Given the description of an element on the screen output the (x, y) to click on. 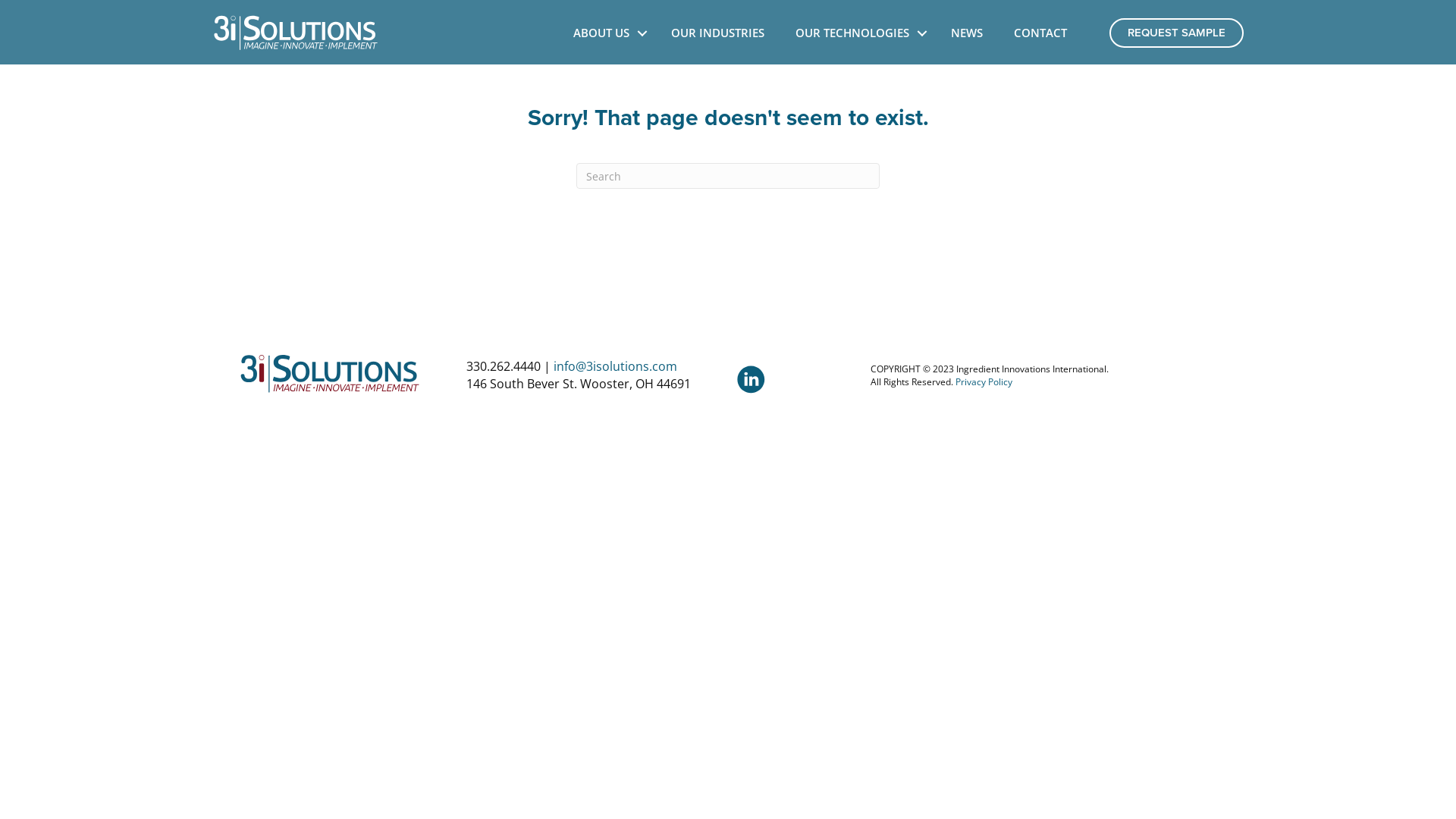
ABOUT US Element type: text (606, 32)
CONTACT Element type: text (1040, 32)
linkedin-icon Element type: hover (750, 379)
info@3isolutions.com Element type: text (615, 365)
3i-logo-color Element type: hover (329, 373)
OUR INDUSTRIES Element type: text (717, 32)
Type and press Enter to search. Element type: hover (727, 175)
3i-logo-white Element type: hover (295, 32)
Privacy Policy Element type: text (983, 381)
REQUEST SAMPLE Element type: text (1176, 32)
NEWS Element type: text (966, 32)
OUR TECHNOLOGIES Element type: text (857, 32)
